Given the description of an element on the screen output the (x, y) to click on. 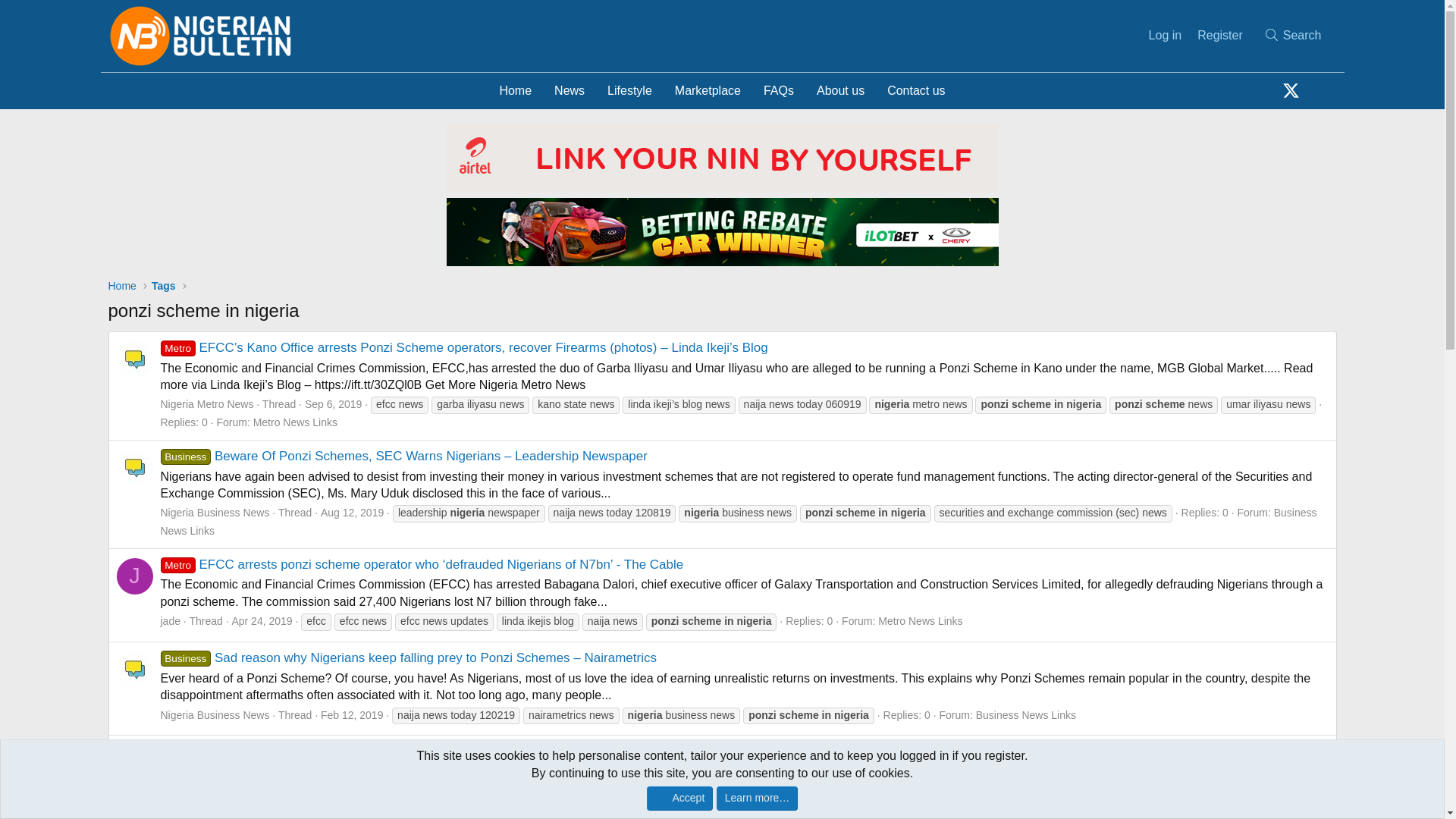
News (569, 90)
Log in (1165, 35)
Search (1292, 35)
Home (122, 286)
Search (1292, 35)
FAQs (778, 90)
ProfRem (721, 107)
Apr 24, 2019 at 10:00 AM (721, 90)
